Given the description of an element on the screen output the (x, y) to click on. 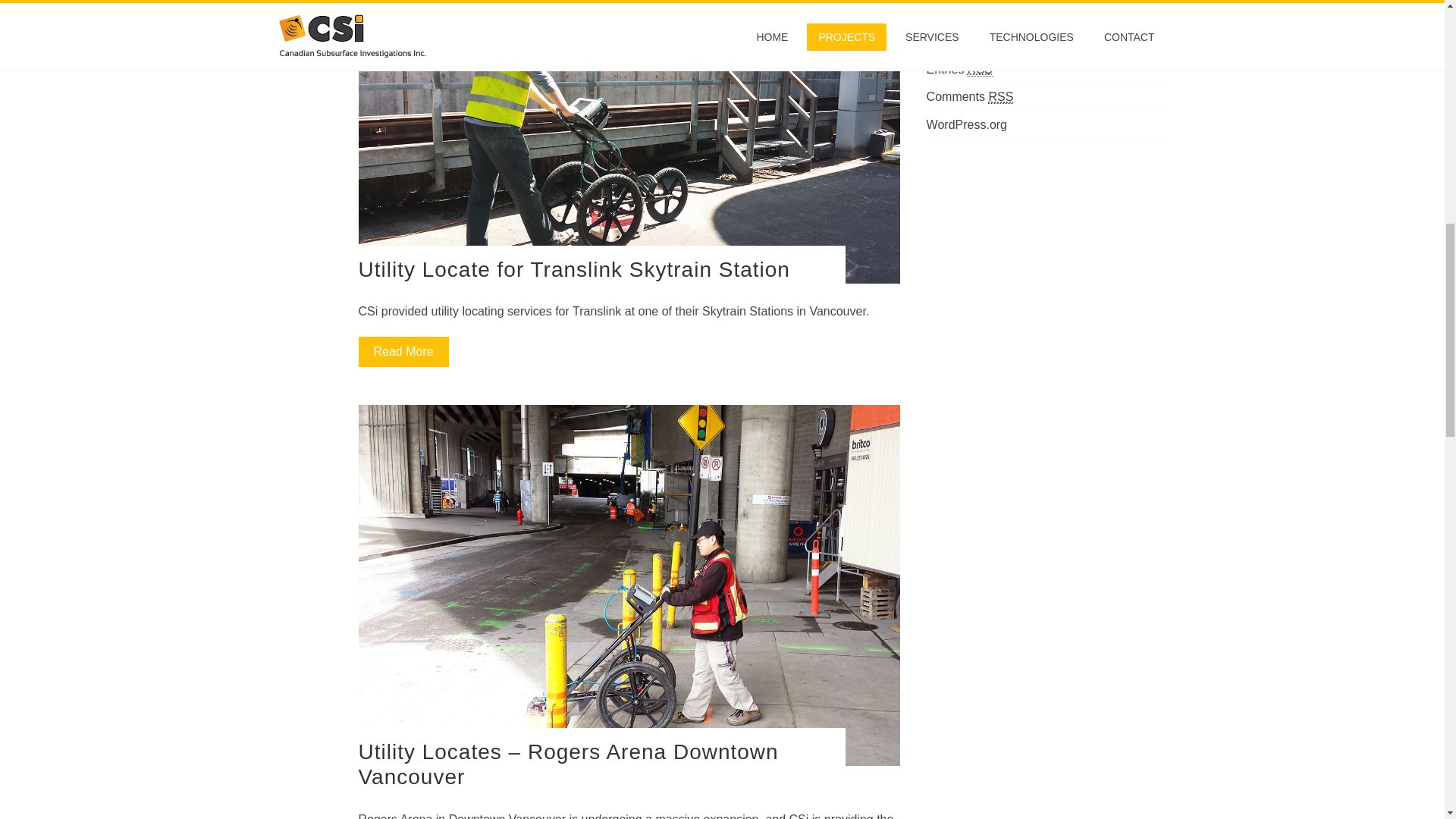
Really Simple Syndication (980, 69)
Utility Locate for Translink Skytrain Station (573, 269)
Really Simple Syndication (1000, 97)
Read More (403, 351)
